Given the description of an element on the screen output the (x, y) to click on. 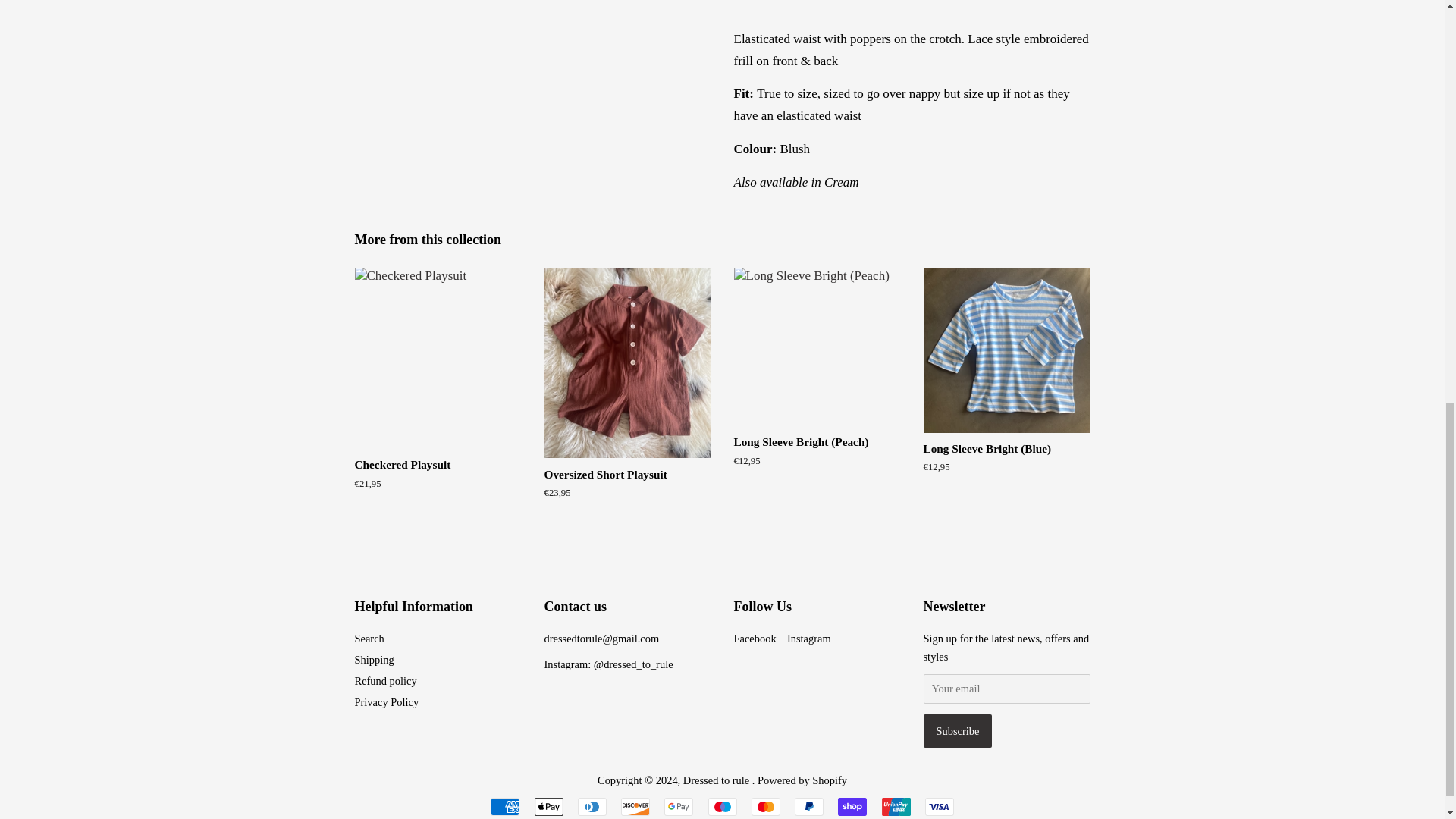
Shop Pay (852, 806)
Mastercard (765, 806)
Apple Pay (548, 806)
Dressed to rule  on Instagram (809, 638)
Google Pay (678, 806)
Visa (938, 806)
Maestro (721, 806)
Dressed to rule  on Facebook (754, 638)
PayPal (809, 806)
Diners Club (592, 806)
